Given the description of an element on the screen output the (x, y) to click on. 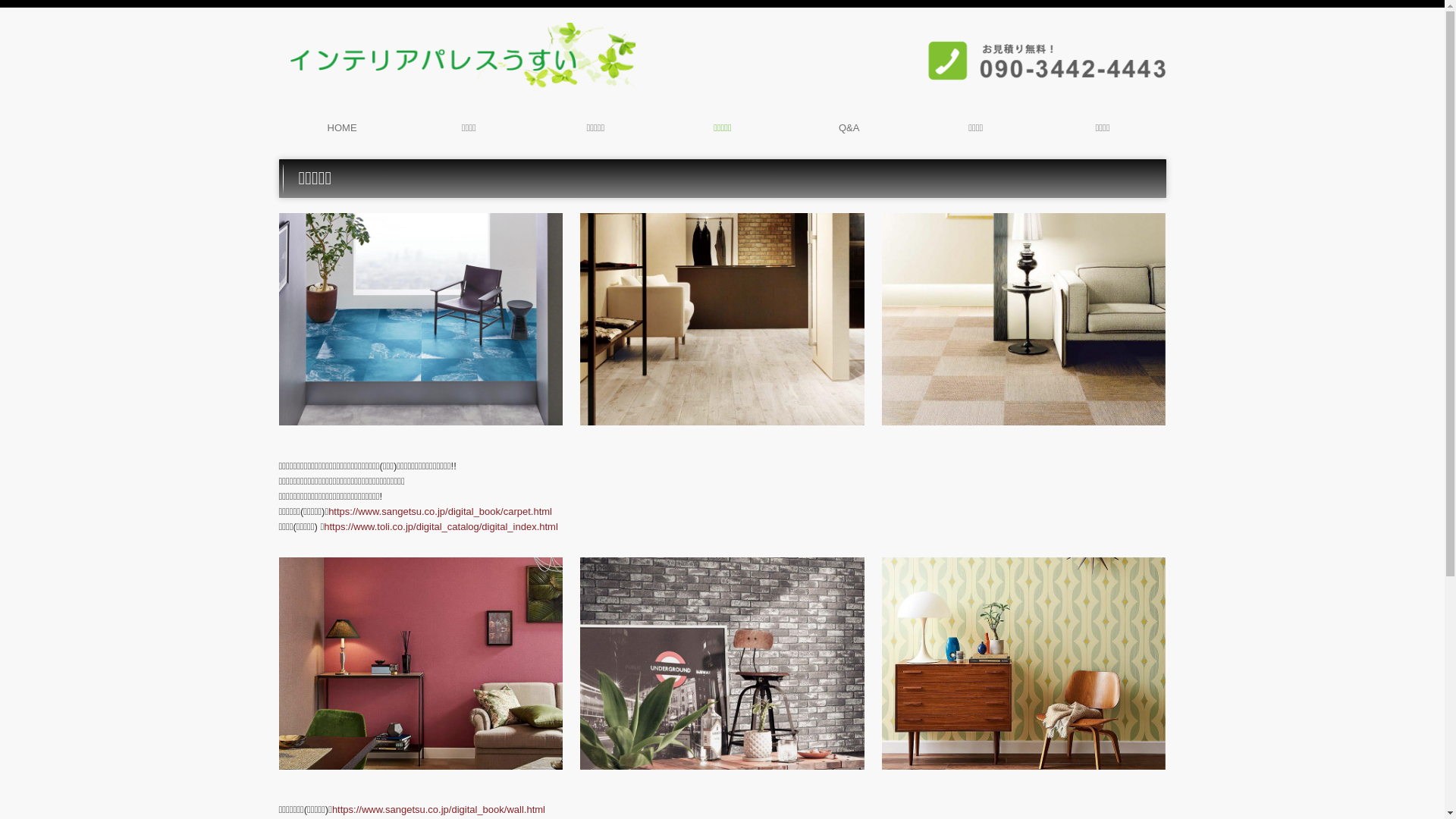
TEL:090-3442-4443 Element type: hover (1025, 60)
https://www.toli.co.jp/digital_catalog/digital_index.html Element type: text (440, 526)
https://www.sangetsu.co.jp/digital_book/carpet.html Element type: text (440, 511)
HOME Element type: text (342, 127)
Q&A Element type: text (848, 127)
https://www.sangetsu.co.jp/digital_book/wall.html Element type: text (438, 809)
